Given the description of an element on the screen output the (x, y) to click on. 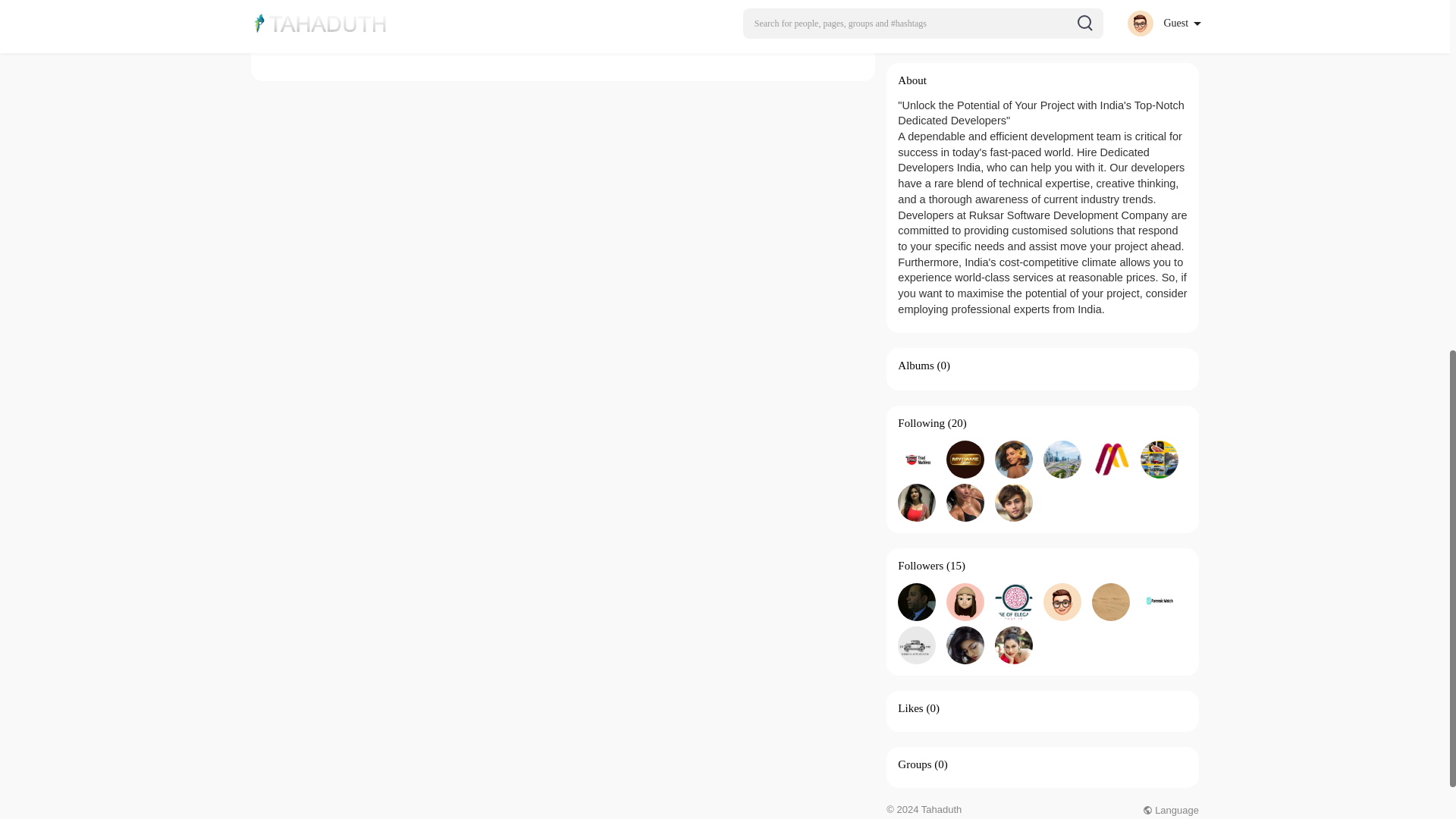
Albums (916, 365)
Followers (920, 565)
Following (921, 422)
